Given the description of an element on the screen output the (x, y) to click on. 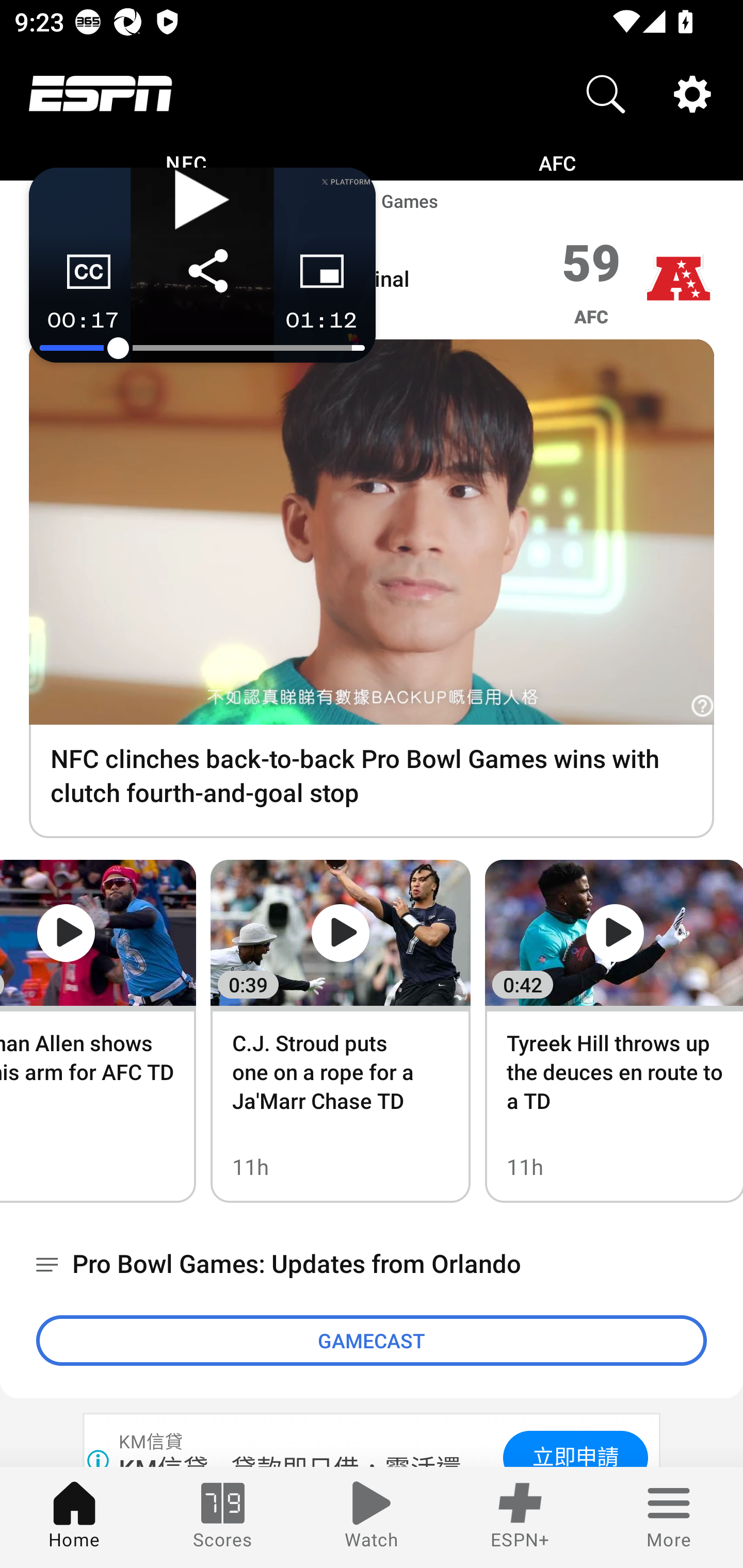
Search (605, 93)
Settings (692, 93)
help_outline_white_24dp_with_3px_trbl_padding (702, 706)
 Pro Bowl Games: Updates from Orlando (371, 1264)
GAMECAST (371, 1340)
KM信貸 (151, 1441)
立即申請 (575, 1448)
Scores (222, 1517)
Watch (371, 1517)
ESPN+ (519, 1517)
More (668, 1517)
